Given the description of an element on the screen output the (x, y) to click on. 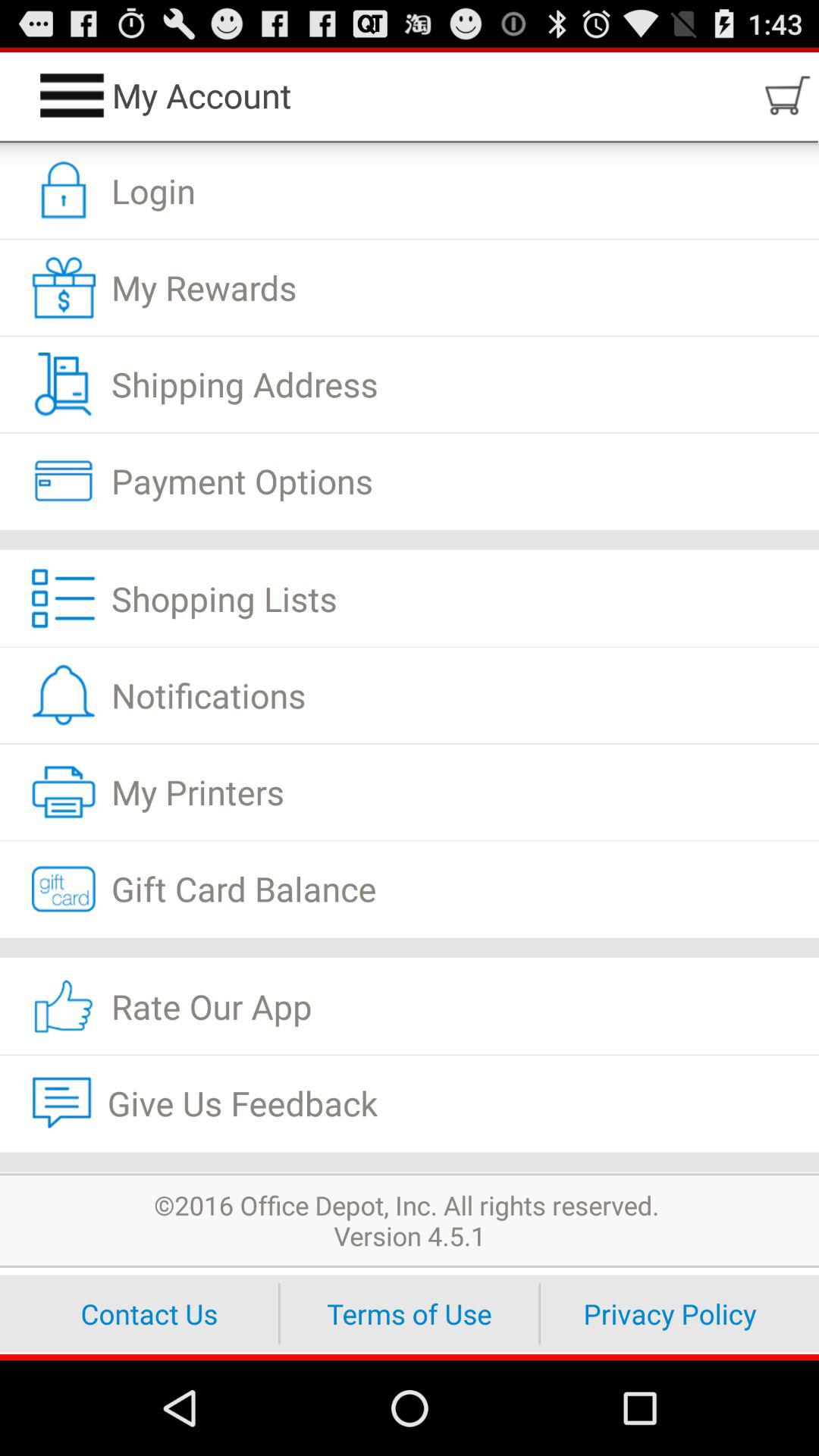
turn off give us feedback item (409, 1103)
